Given the description of an element on the screen output the (x, y) to click on. 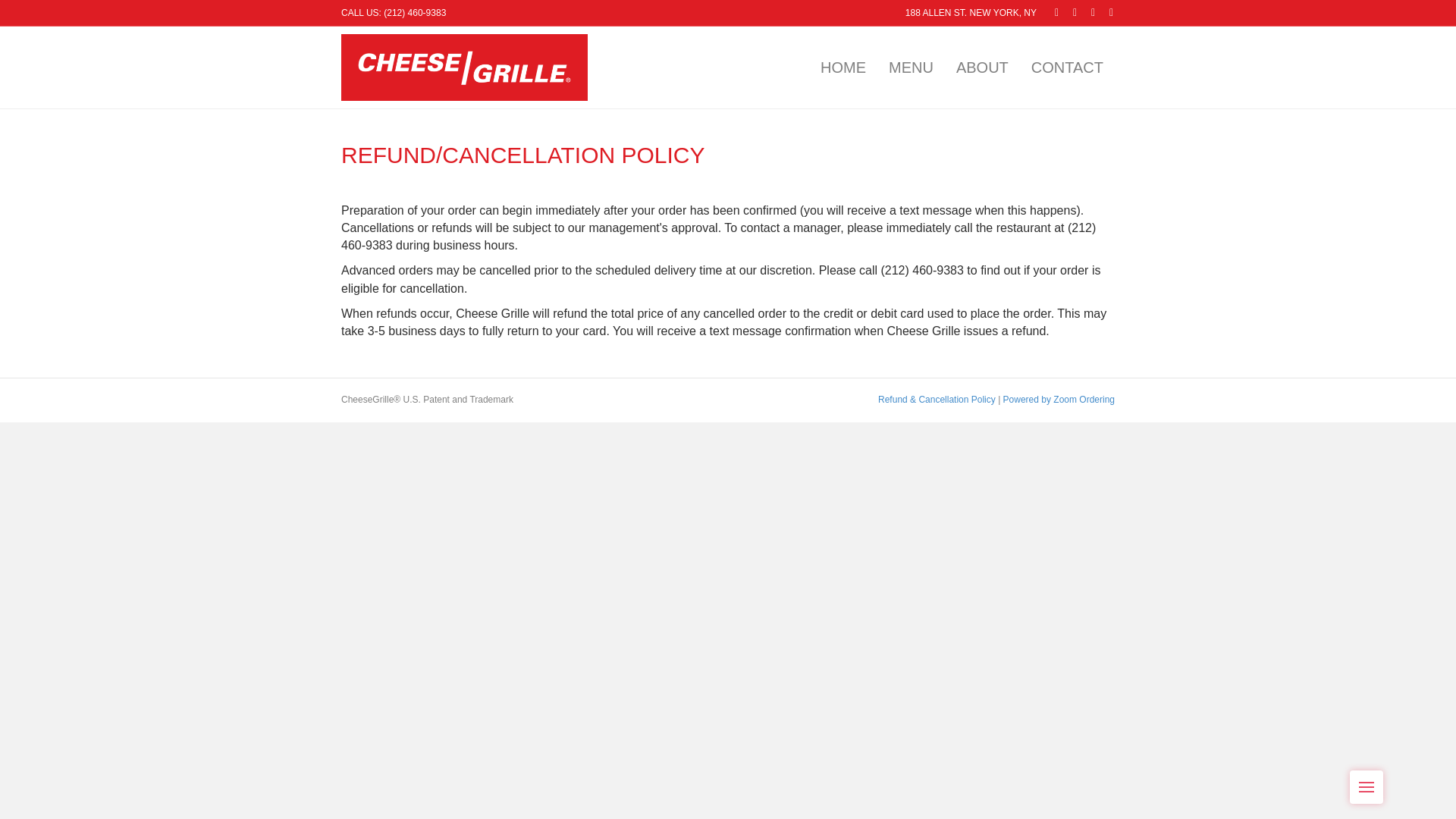
Powered by Zoom Ordering (1059, 398)
HOME (843, 67)
CONTACT (1067, 67)
Yelp (1085, 11)
Facebook (1049, 11)
MENU (910, 67)
ABOUT (982, 67)
Instagram (1103, 11)
Twitter (1067, 11)
